Given the description of an element on the screen output the (x, y) to click on. 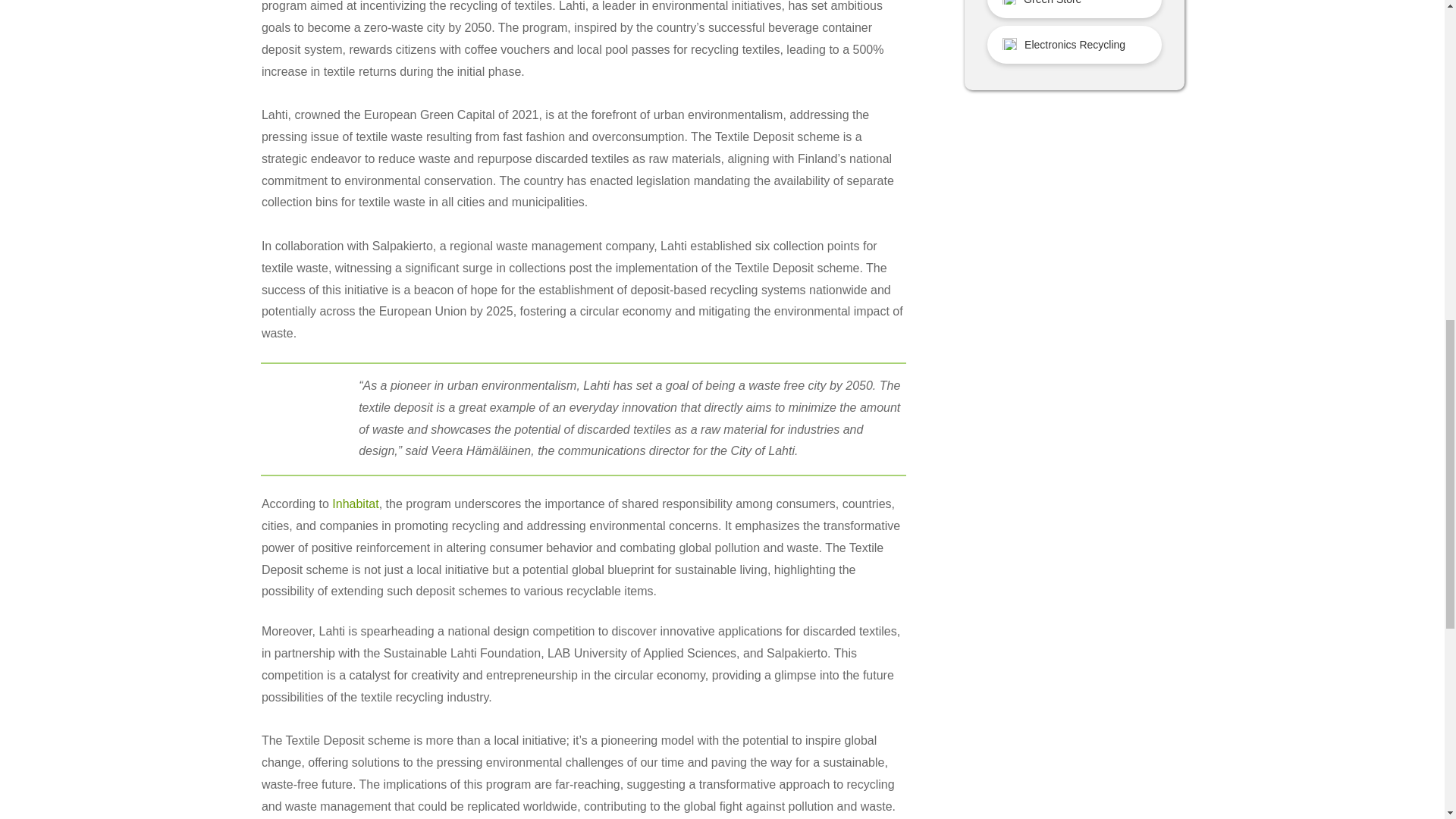
statement (302, 413)
